Given the description of an element on the screen output the (x, y) to click on. 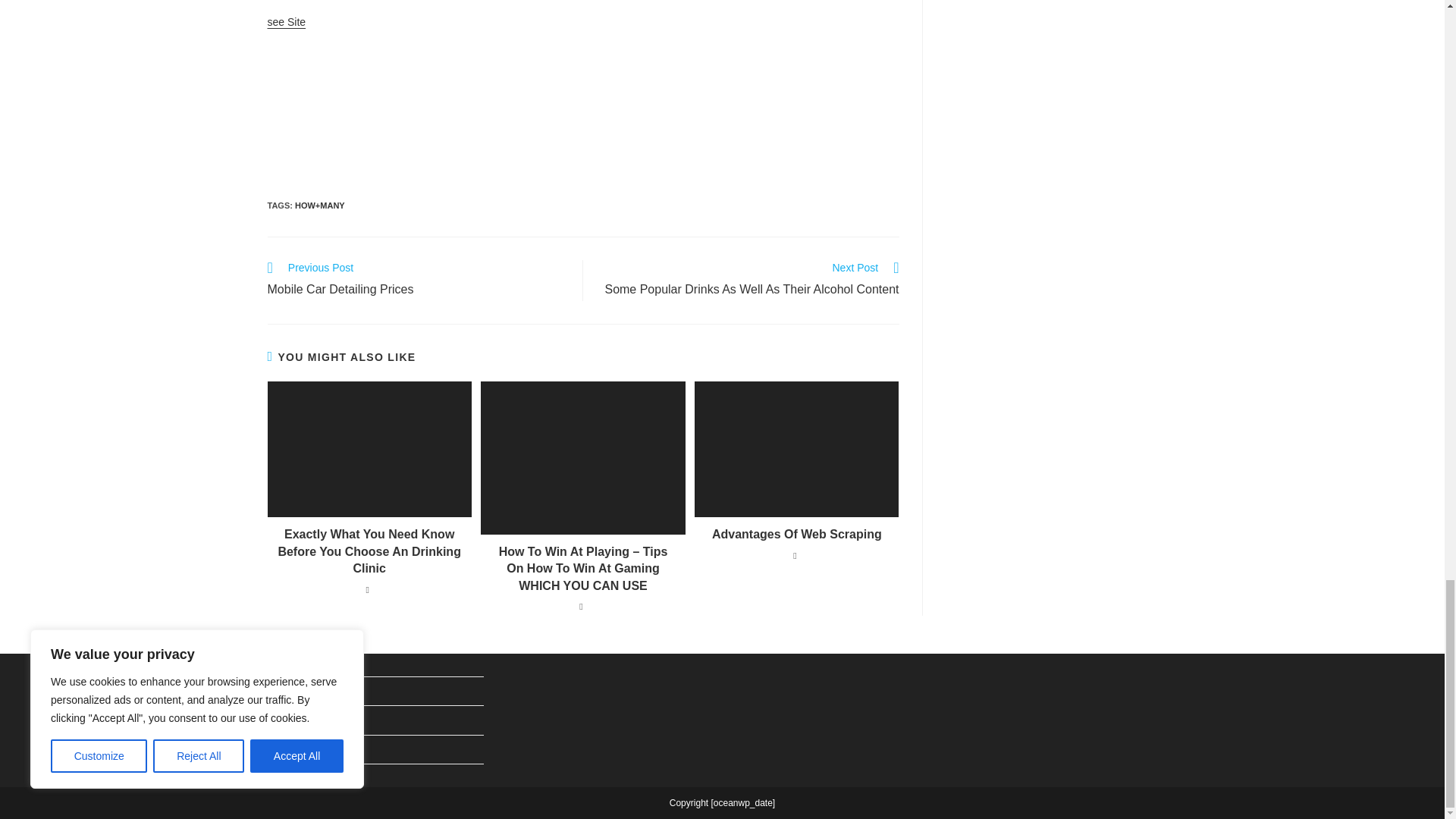
see Site (416, 280)
